Given the description of an element on the screen output the (x, y) to click on. 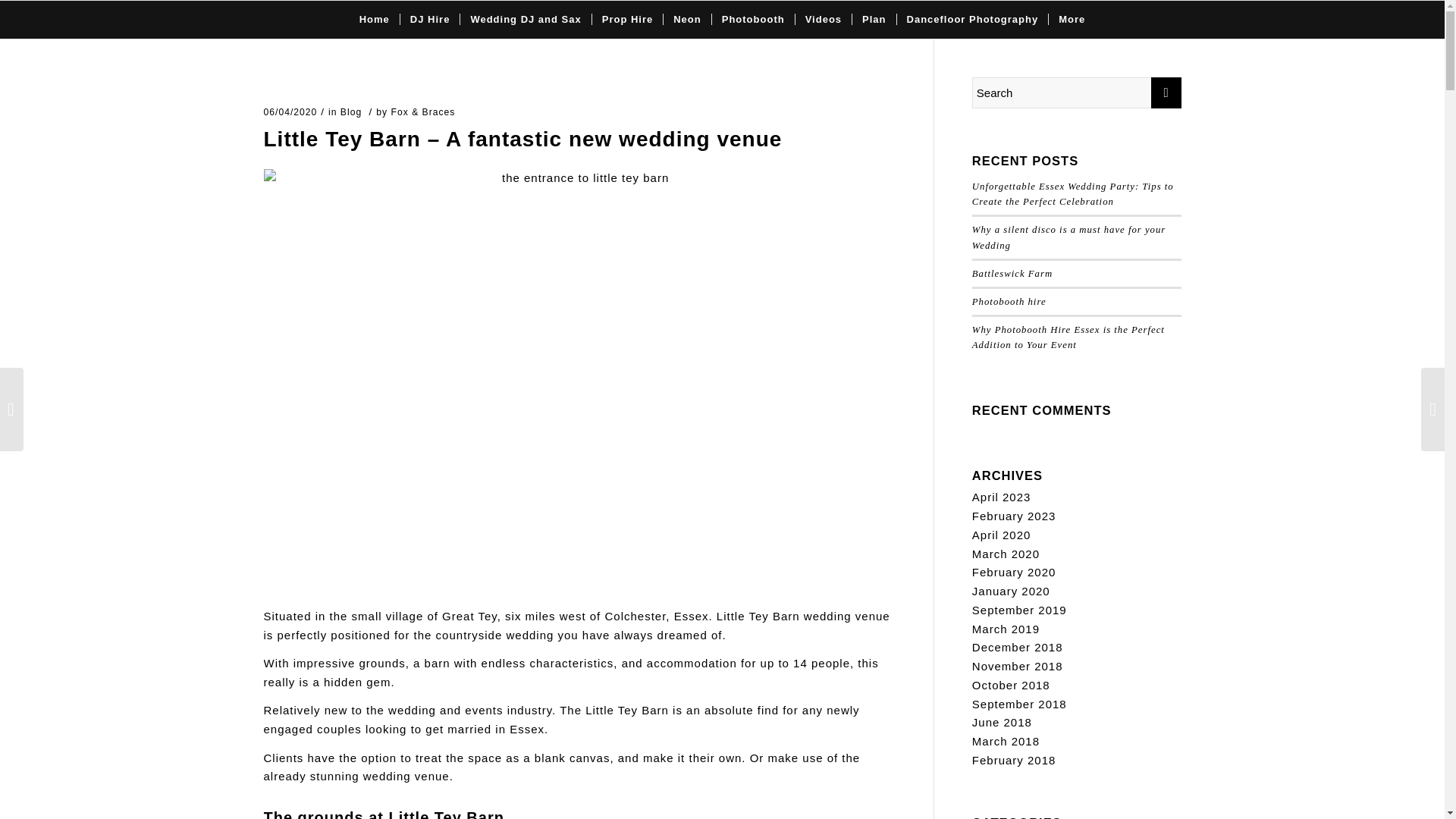
Home (373, 19)
Videos (822, 19)
Prop Hire (627, 19)
DJ Hire (429, 19)
Blog (350, 112)
Neon (686, 19)
Photobooth (752, 19)
Wedding DJ and Sax (525, 19)
More (1071, 19)
Dancefloor Photography (972, 19)
